Given the description of an element on the screen output the (x, y) to click on. 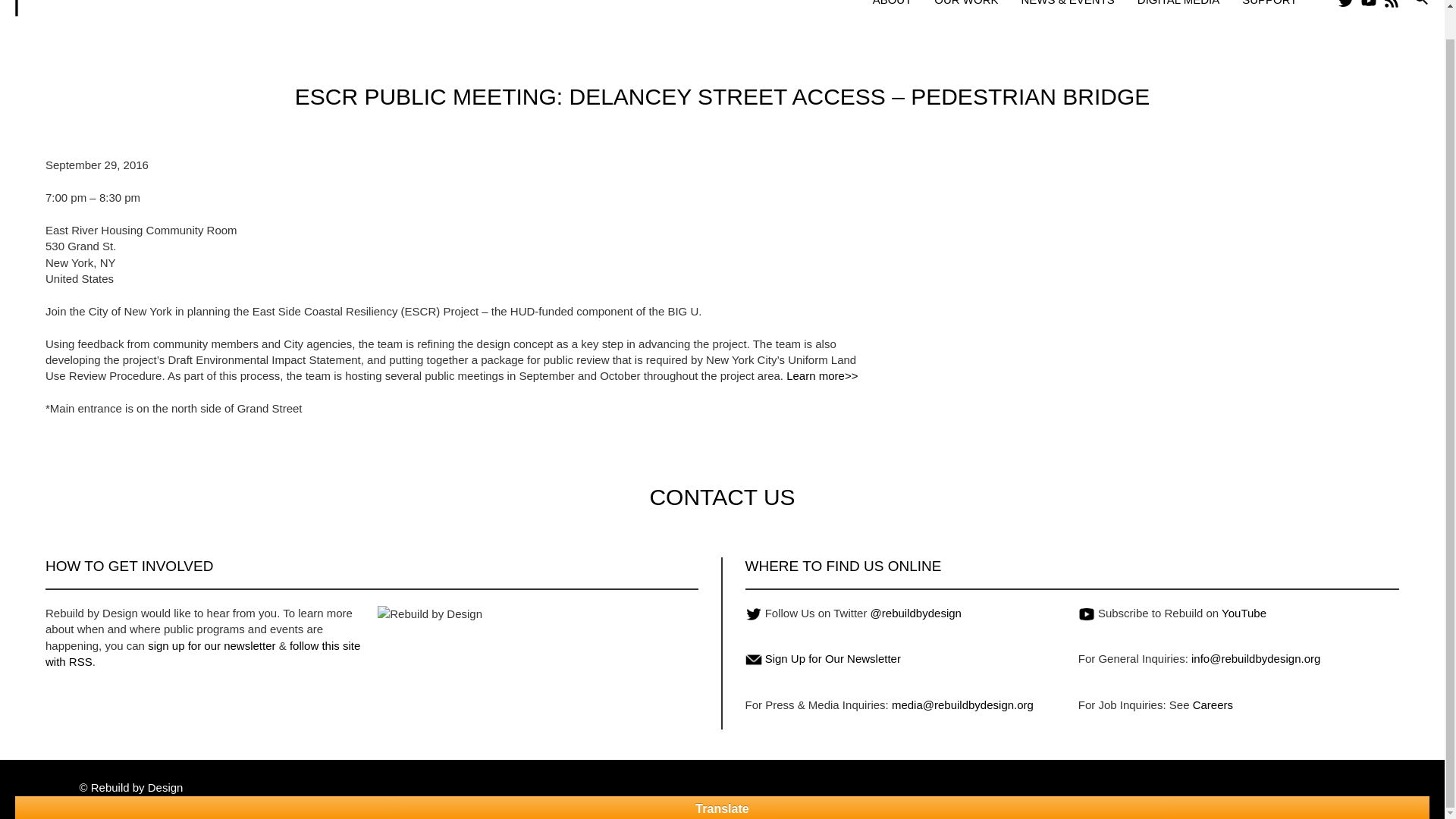
DIGITAL MEDIA (1177, 3)
Search (1421, 5)
ABOUT (892, 3)
SUPPORT (1268, 3)
OUR WORK (966, 3)
